Given the description of an element on the screen output the (x, y) to click on. 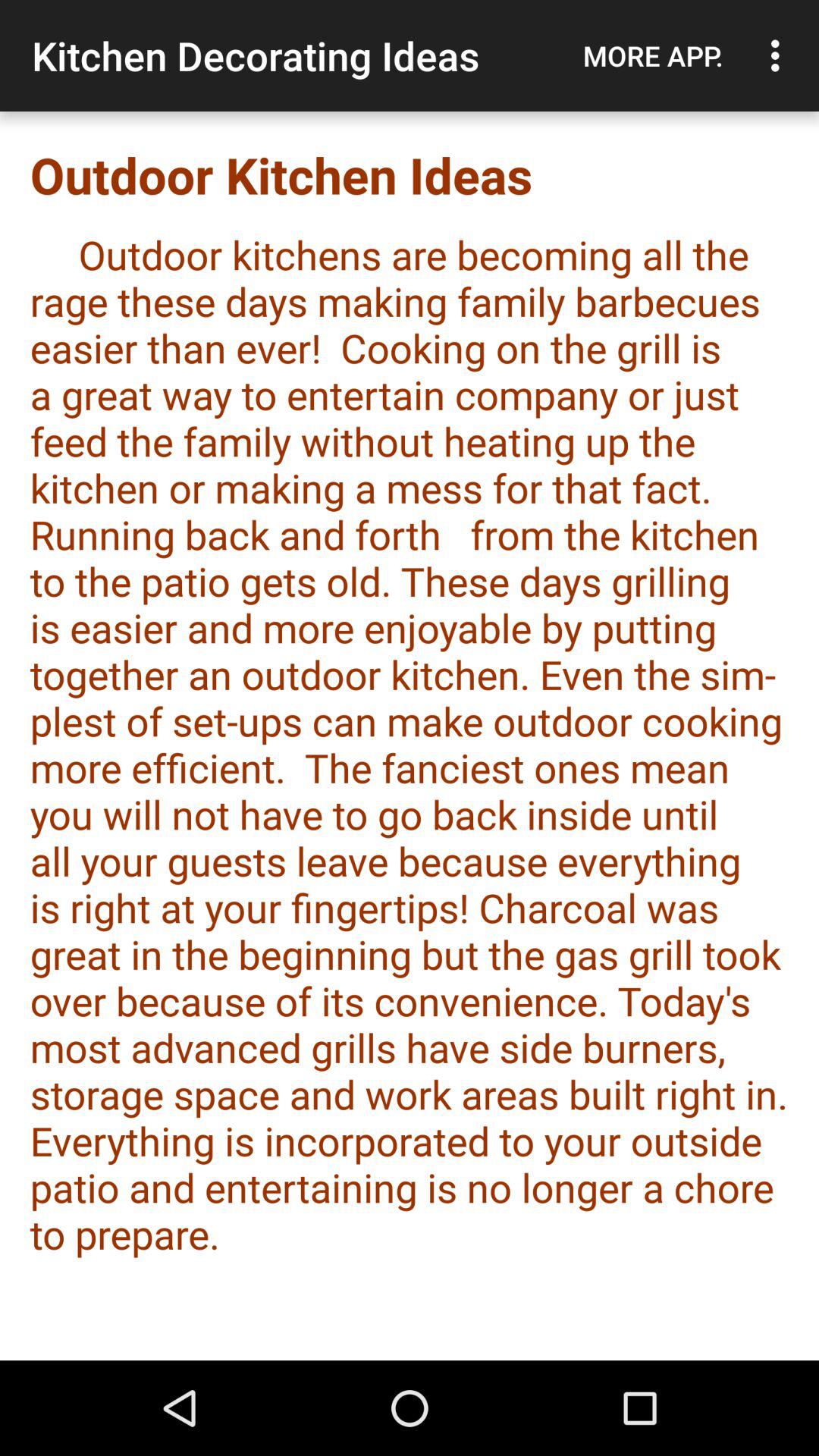
turn off the item above the outdoor kitchen ideas item (653, 55)
